Given the description of an element on the screen output the (x, y) to click on. 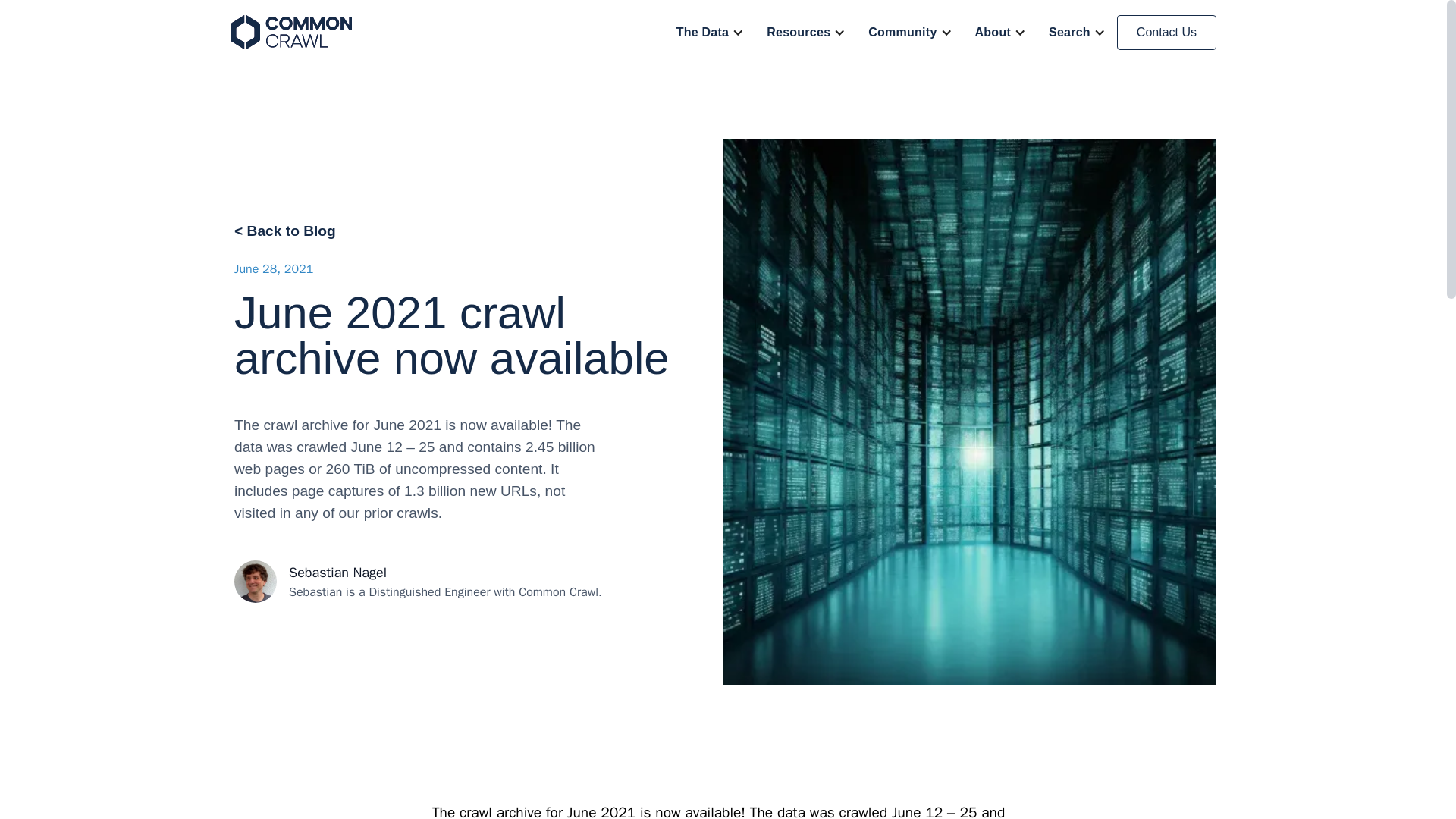
Contact Us (1165, 32)
